Given the description of an element on the screen output the (x, y) to click on. 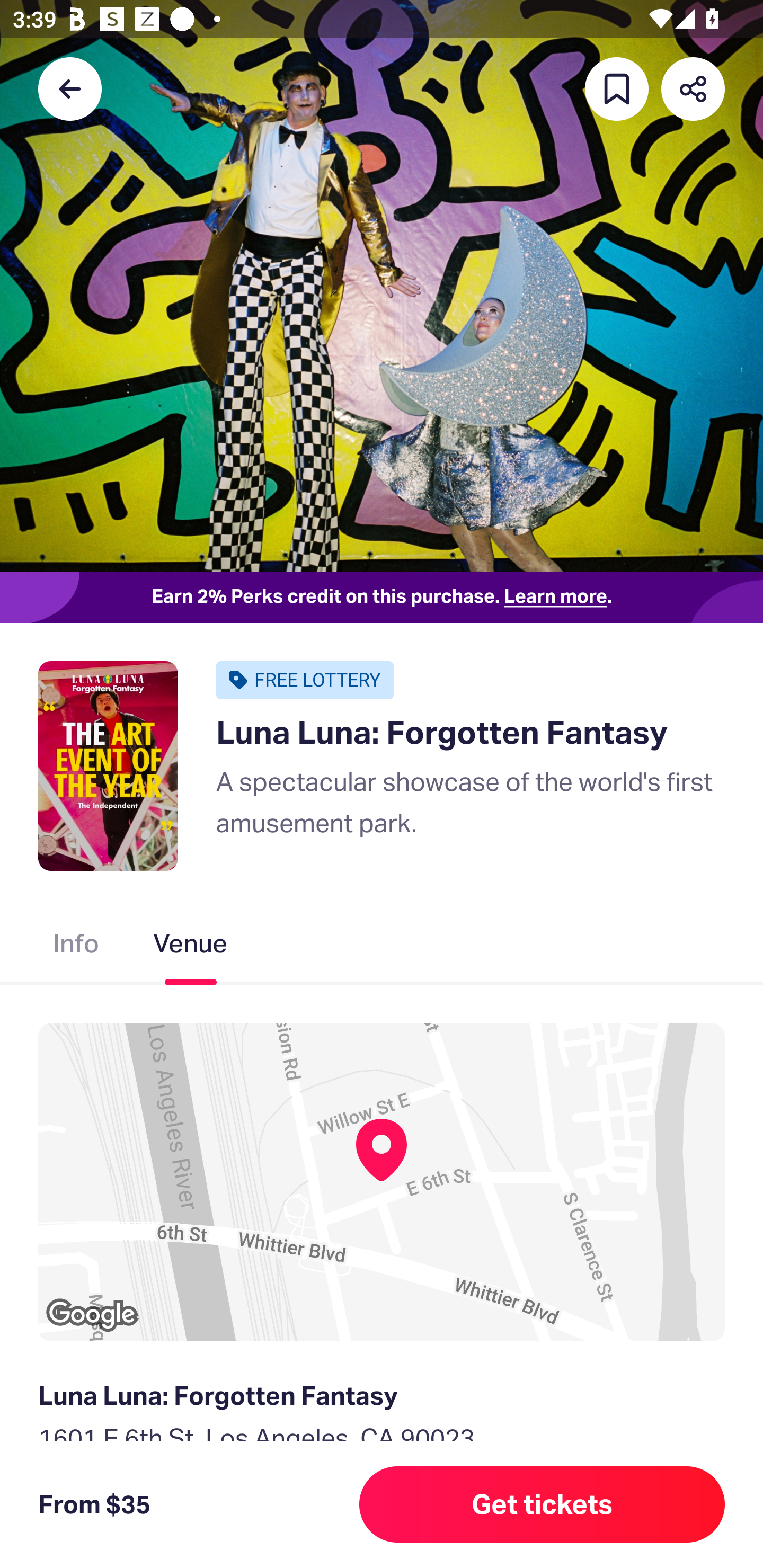
Earn 2% Perks credit on this purchase. Learn more. (381, 597)
Info (76, 946)
Google Map Luna Luna: Forgotten Fantasy.  (381, 1181)
Get tickets (541, 1504)
Get directions (381, 1530)
